Given the description of an element on the screen output the (x, y) to click on. 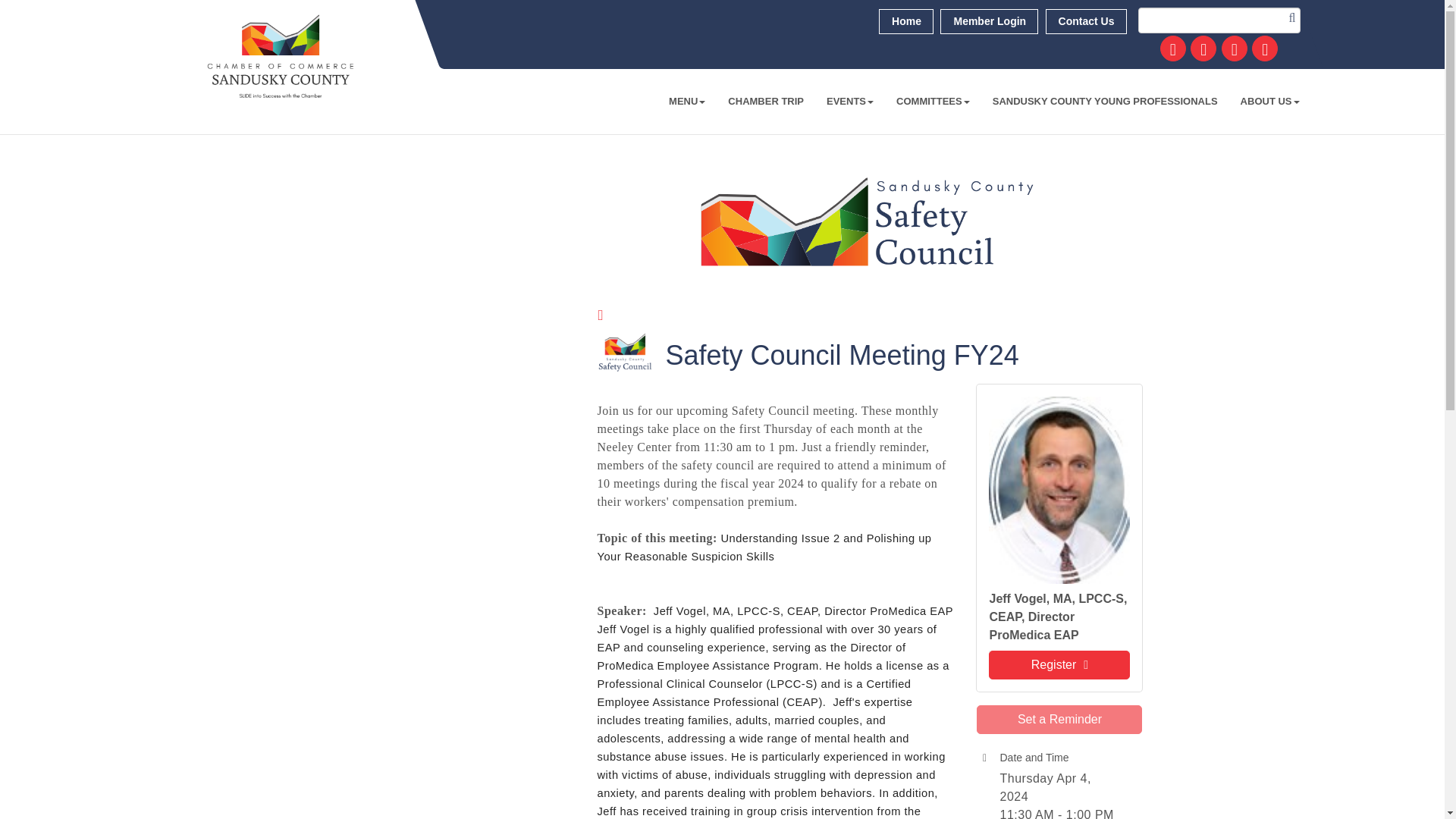
Icon Link (1173, 48)
SANDUSKY COUNTY YOUNG PROFESSIONALS (1104, 101)
CHAMBER TRIP (765, 101)
Member Login (989, 21)
ABOUT US (1269, 101)
EVENTS (850, 101)
Icon Link (1203, 48)
MENU (687, 101)
Contact Us (1085, 21)
Icon Link (1234, 48)
Home (906, 21)
COMMITTEES (933, 101)
Icon Link (1265, 48)
